Given the description of an element on the screen output the (x, y) to click on. 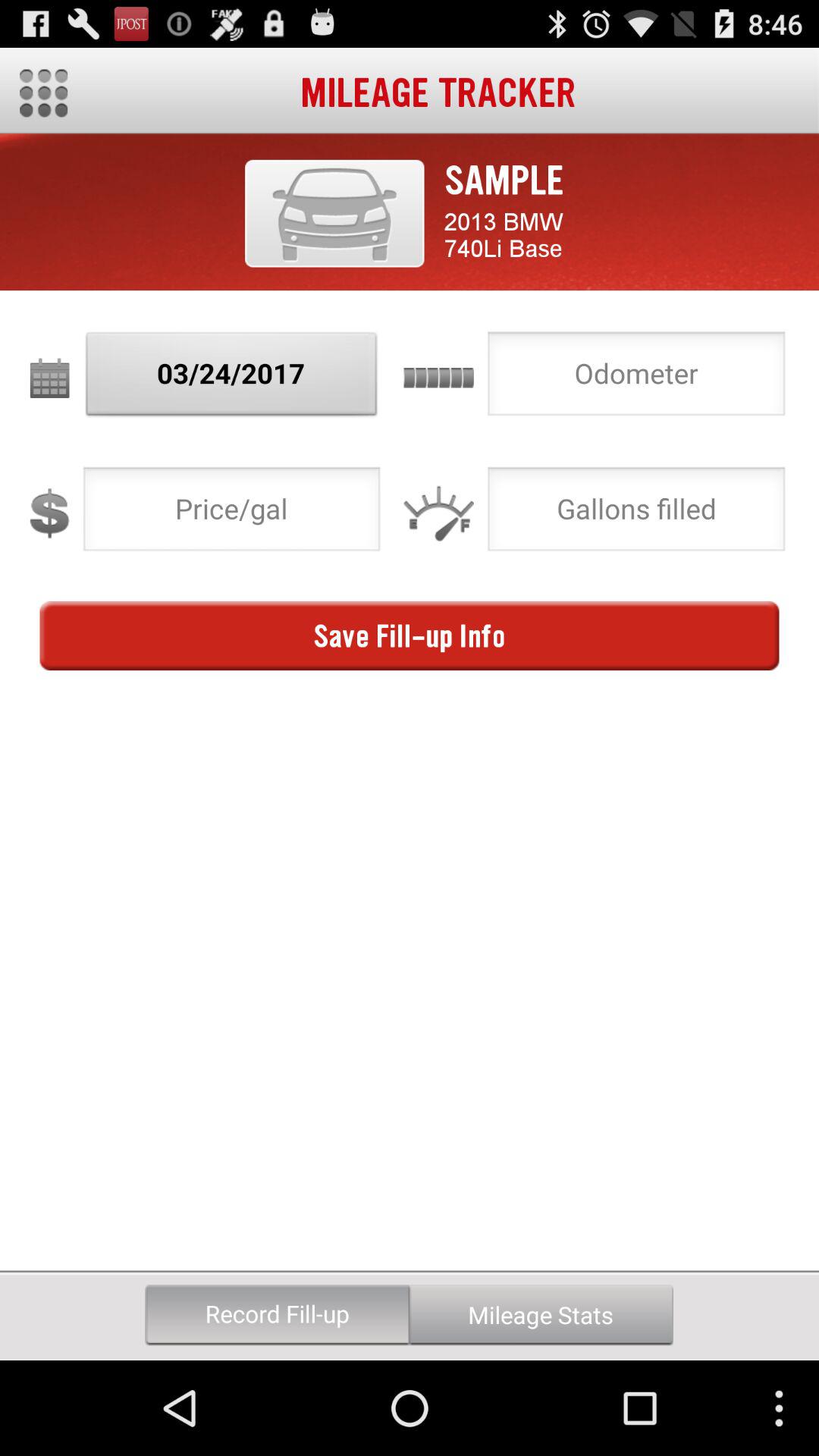
open icon to the left of the sample  icon (334, 213)
